Given the description of an element on the screen output the (x, y) to click on. 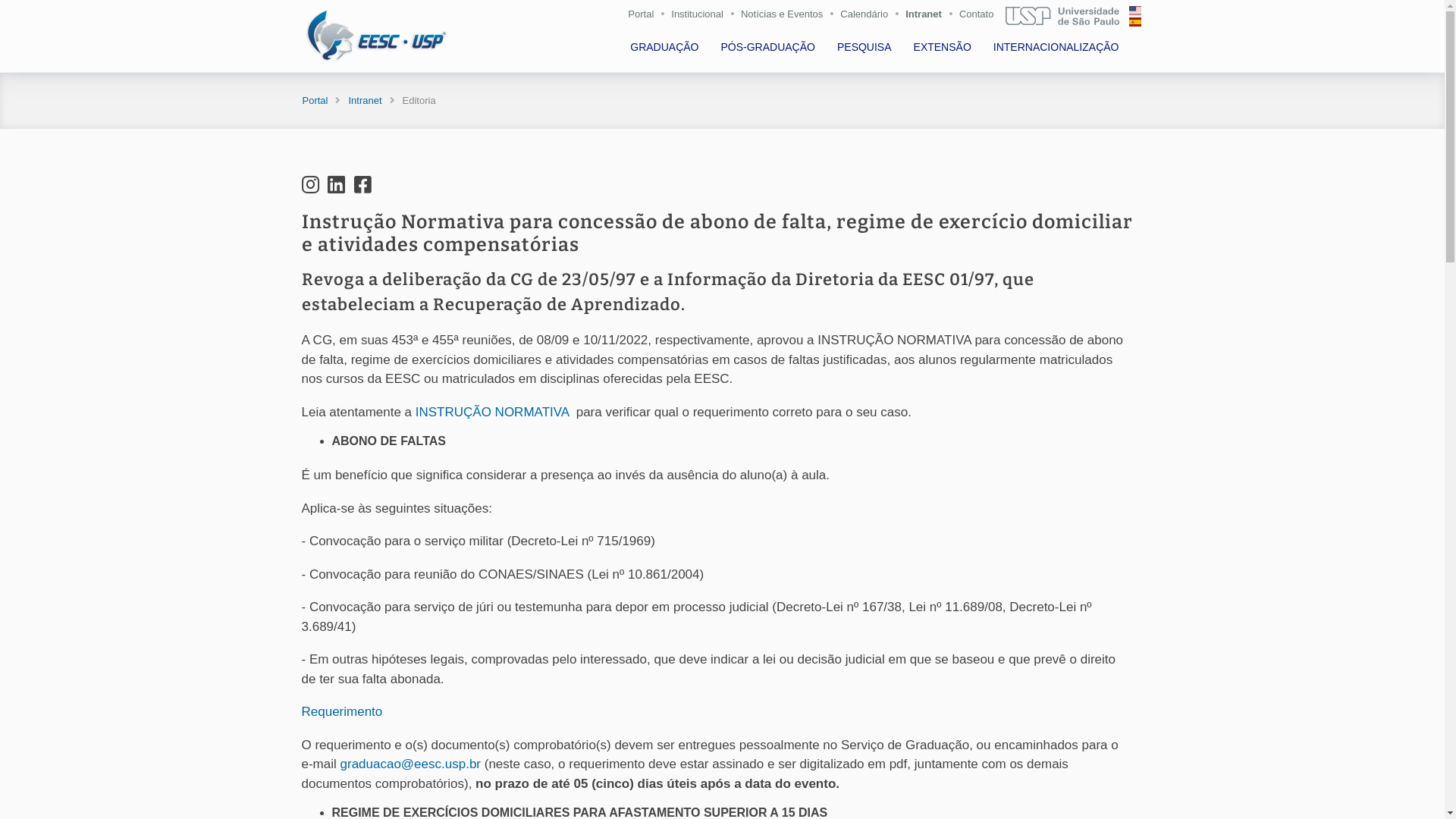
Intranet Element type: text (927, 16)
Portal Element type: text (314, 100)
Requerimento Element type: text (341, 711)
Intranet Element type: text (364, 100)
Institucional Element type: text (701, 16)
Contato Element type: text (982, 16)
PESQUISA Element type: text (865, 47)
graduacao@eesc.usp.br Element type: text (410, 763)
Portal Element type: text (644, 16)
